Given the description of an element on the screen output the (x, y) to click on. 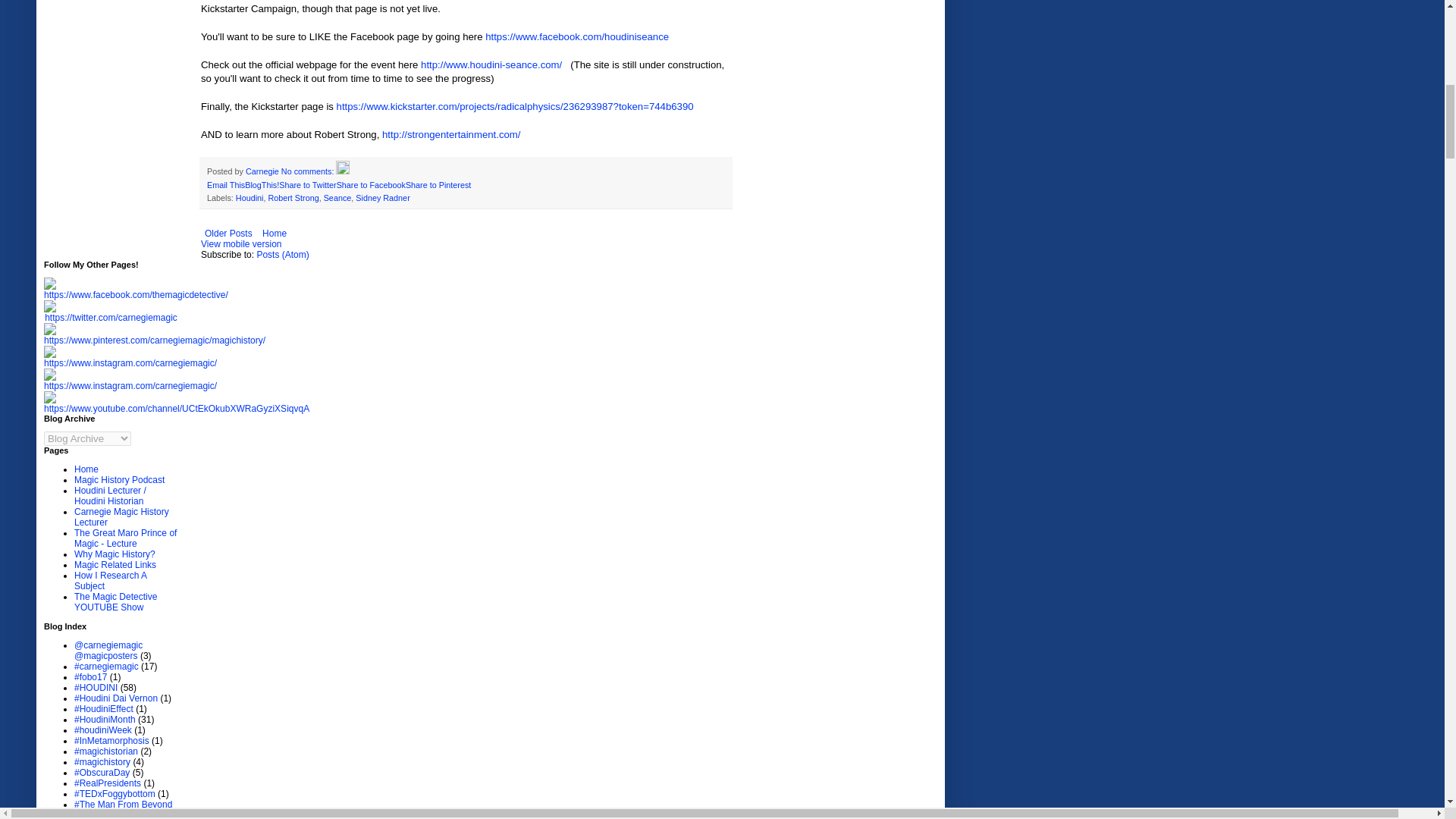
BlogThis! (261, 184)
Share to Facebook (371, 184)
Share to Facebook (371, 184)
Share to Twitter (307, 184)
Email This (225, 184)
Carnegie Magic History Lecturer (121, 516)
The Great Maro Prince of Magic - Lecture (125, 537)
Home (86, 469)
Share to Twitter (307, 184)
Houdini (249, 197)
Carnegie (263, 171)
Share to Pinterest (438, 184)
author profile (263, 171)
BlogThis! (261, 184)
Magic Related Links (114, 564)
